Given the description of an element on the screen output the (x, y) to click on. 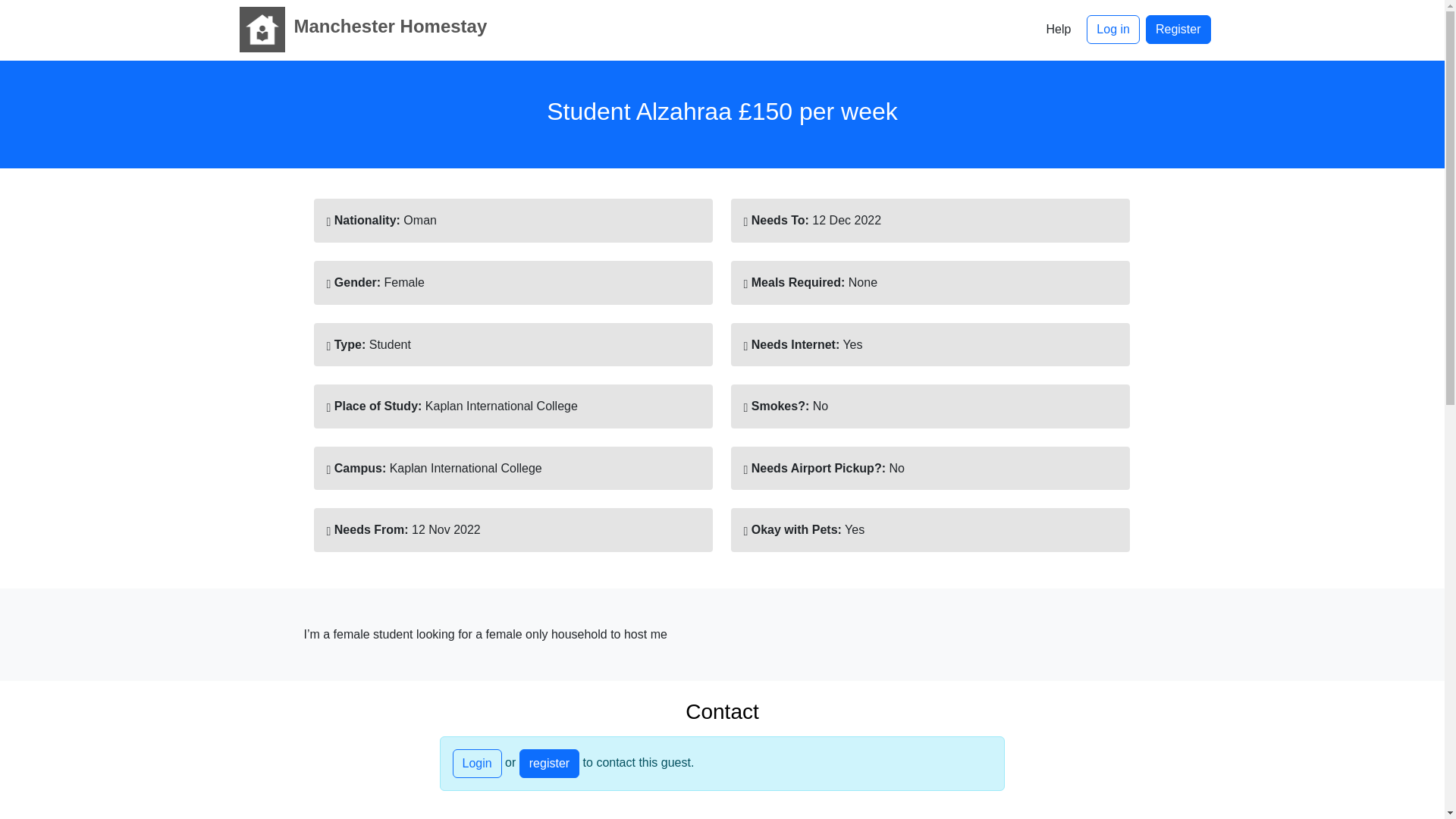
Login (475, 763)
Manchester Homestay (358, 29)
Register (1178, 29)
Help (1057, 29)
Log in (1113, 29)
register (549, 763)
